Given the description of an element on the screen output the (x, y) to click on. 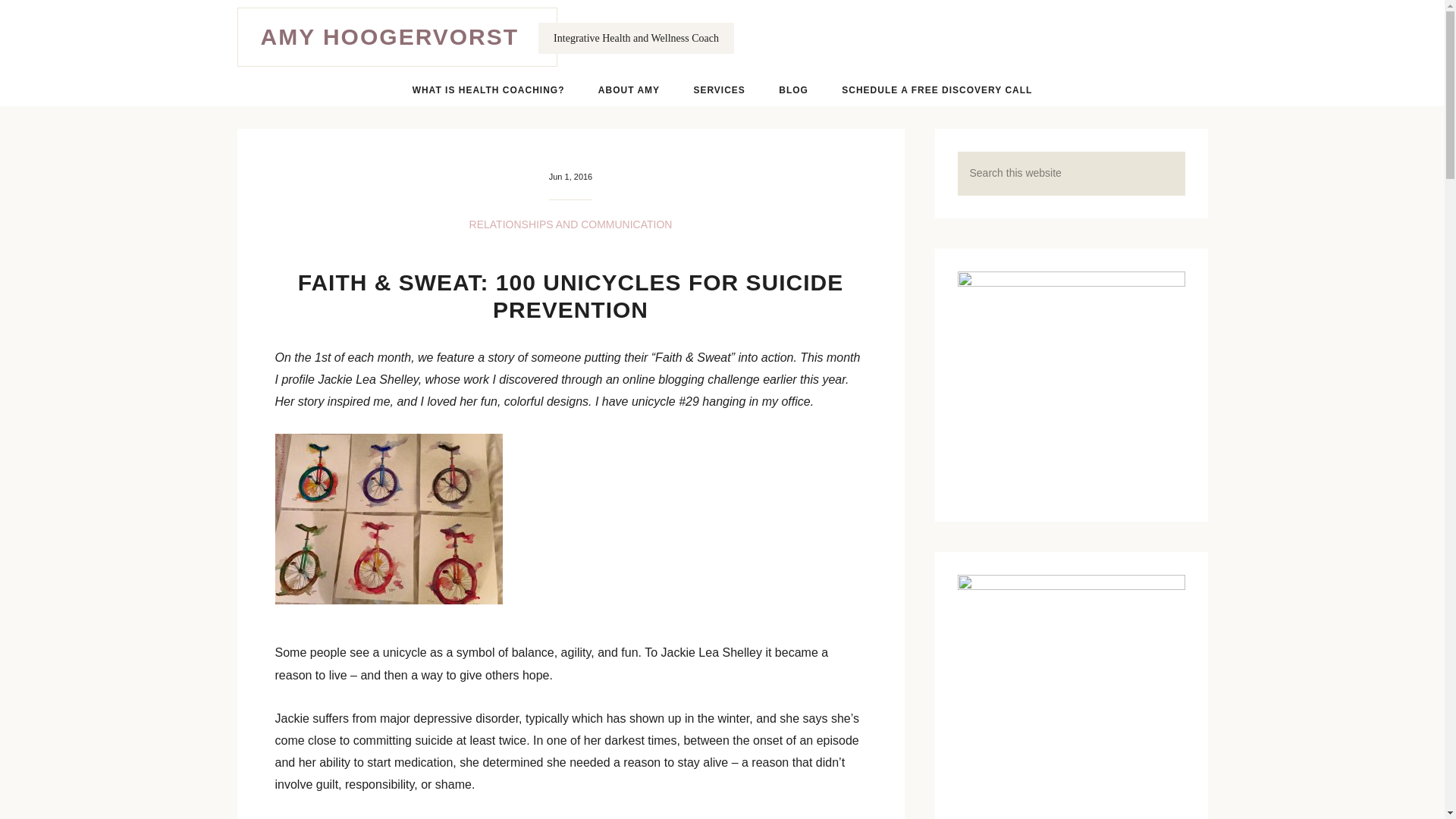
AMY HOOGERVORST (389, 36)
ABOUT AMY (629, 90)
RELATIONSHIPS AND COMMUNICATION (570, 224)
BLOG (793, 90)
SCHEDULE A FREE DISCOVERY CALL (936, 90)
WHAT IS HEALTH COACHING? (488, 90)
SERVICES (719, 90)
